Given the description of an element on the screen output the (x, y) to click on. 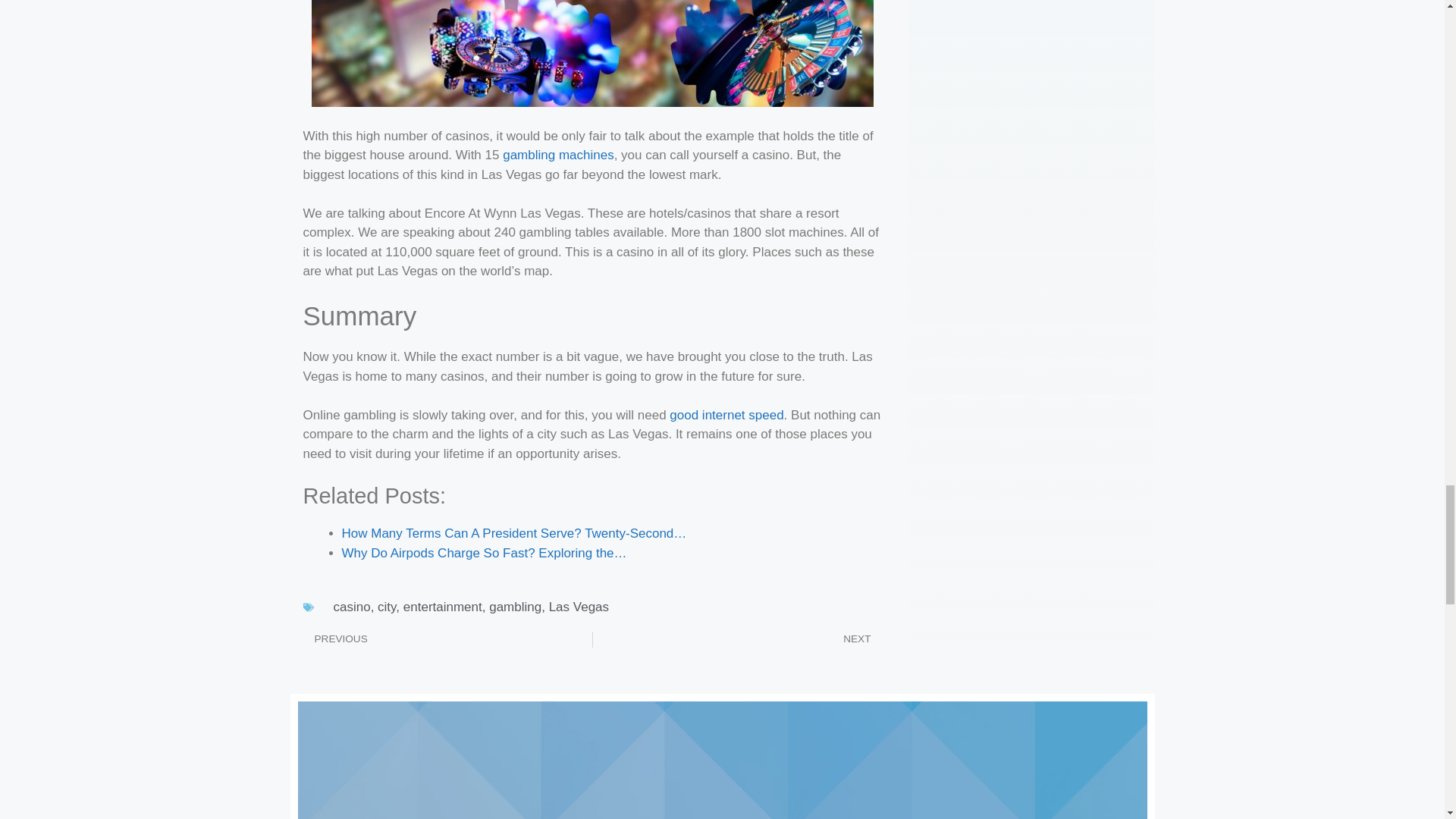
good internet speed (726, 414)
NEXT (737, 639)
gambling (515, 606)
city (386, 606)
gambling machines (557, 155)
entertainment (442, 606)
PREVIOUS (447, 639)
casino (352, 606)
Las Vegas (578, 606)
